Given the description of an element on the screen output the (x, y) to click on. 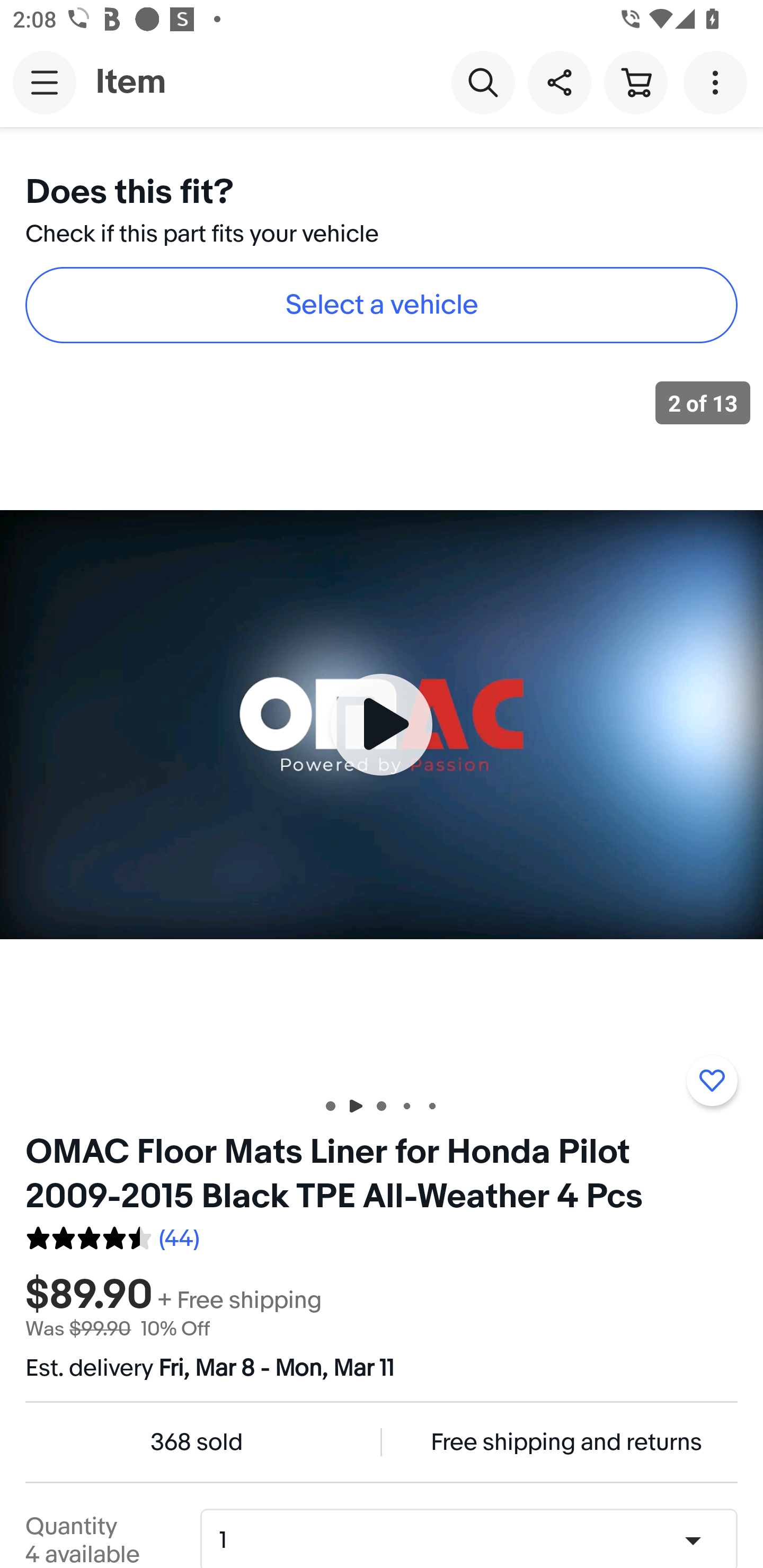
Main navigation, open (44, 82)
Search (482, 81)
Share this item (559, 81)
Cart button shopping cart (635, 81)
More options (718, 81)
Select a vehicle (381, 304)
Item image 2 of 13, plays video (381, 724)
Add to watchlist (711, 1080)
Quantity,1,4 available 1 (474, 1540)
